Given the description of an element on the screen output the (x, y) to click on. 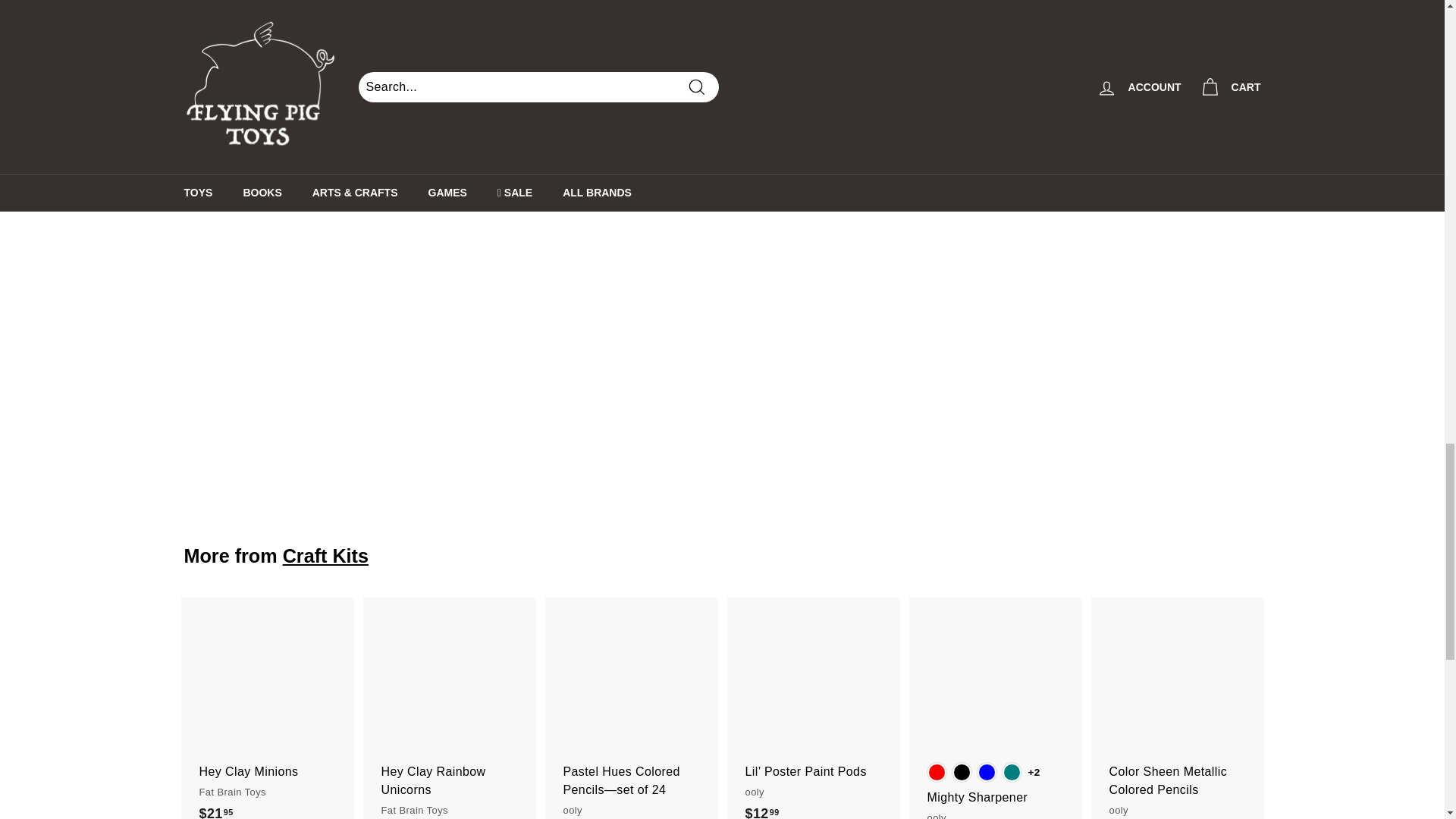
ooly (301, 145)
